Given the description of an element on the screen output the (x, y) to click on. 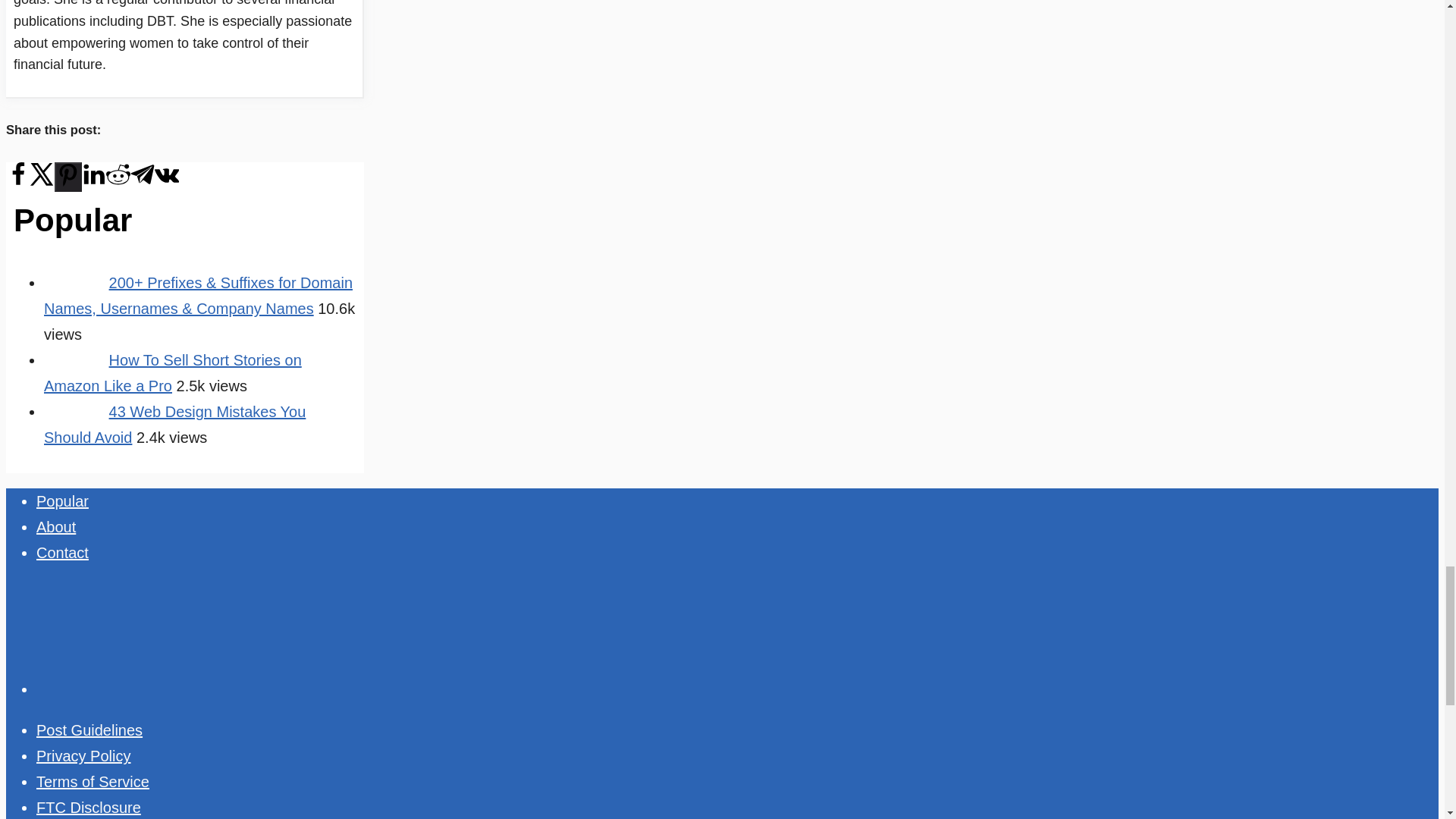
Share on X (42, 182)
Share on VK (166, 182)
Share on Telegram (142, 182)
Share on LinkedIn (93, 182)
Save to Pinterest (68, 176)
Share on Reddit (118, 182)
Share on Facebook (17, 182)
